Given the description of an element on the screen output the (x, y) to click on. 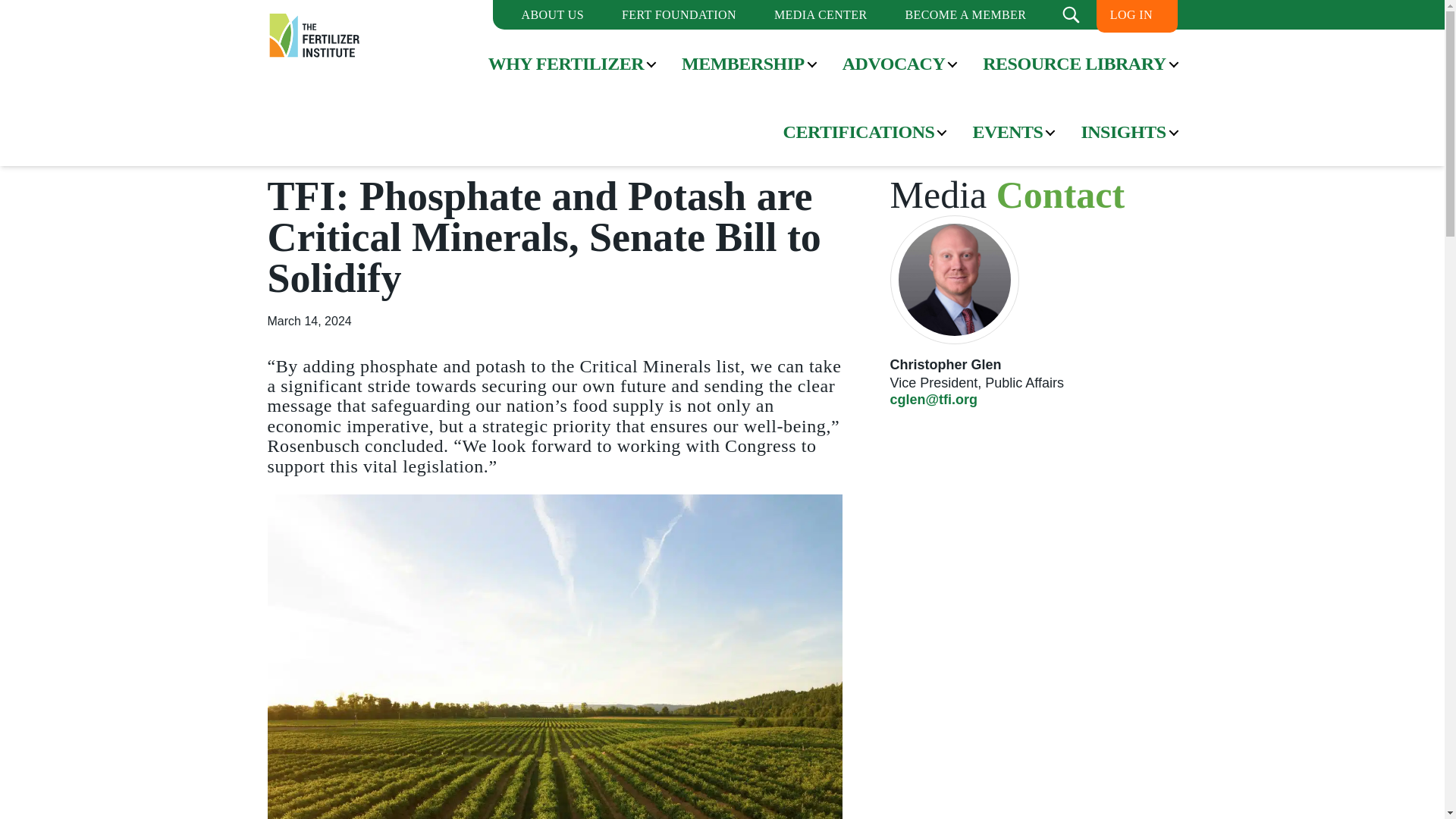
Go to The Fertilizer Institute. (289, 114)
MEMBERSHIP (743, 64)
BECOME A MEMBER (965, 14)
LOG IN (1131, 14)
ADVOCACY (893, 64)
ABOUT US (552, 14)
Go to The Feed. (459, 114)
Go to Media Center. (369, 114)
WHY FERTILIZER (565, 64)
FERT FOUNDATION (678, 14)
MEDIA CENTER (820, 14)
